Given the description of an element on the screen output the (x, y) to click on. 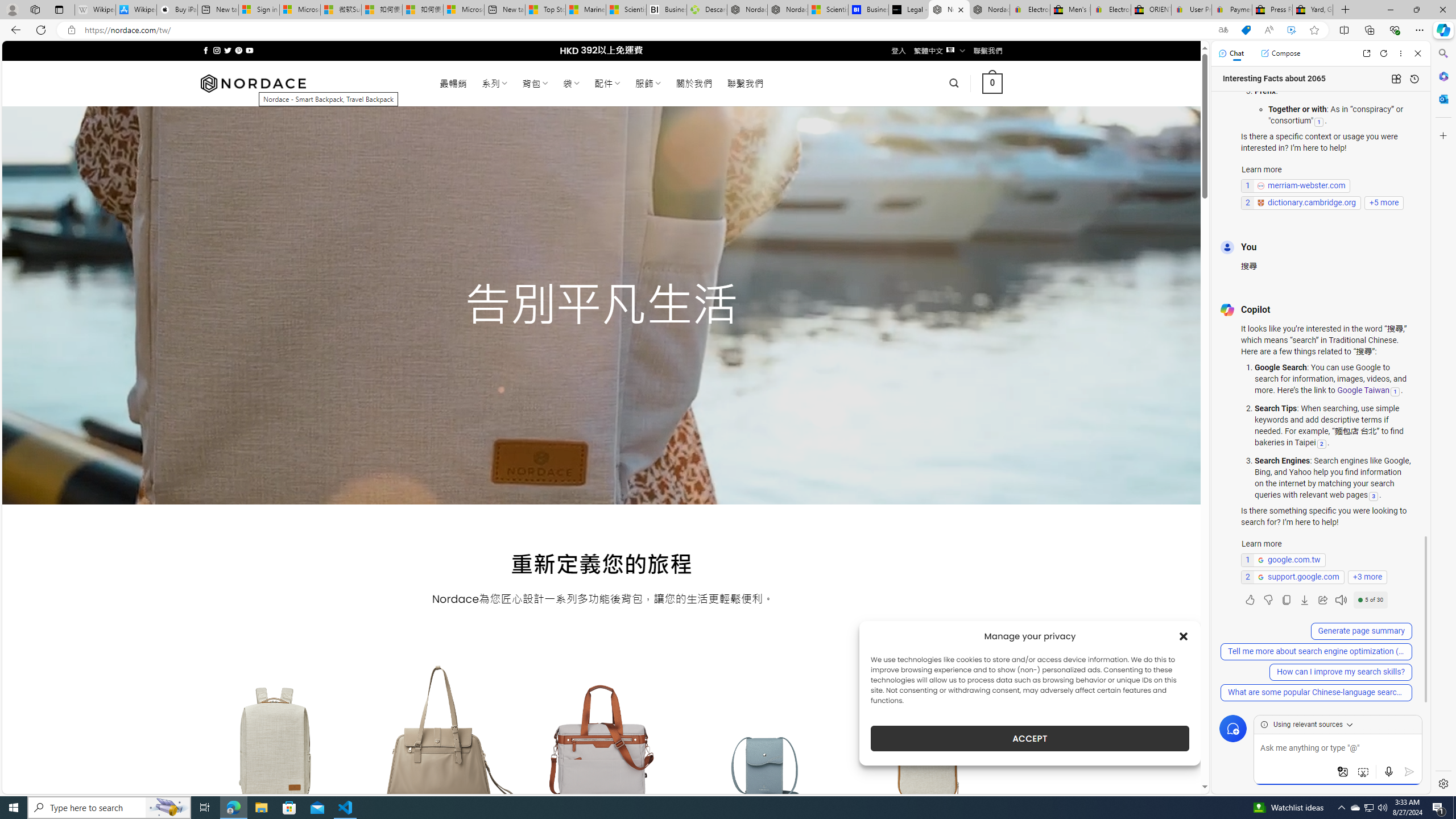
Minimize Search pane (1442, 53)
Follow on Instagram (216, 50)
 0  (992, 83)
